Given the description of an element on the screen output the (x, y) to click on. 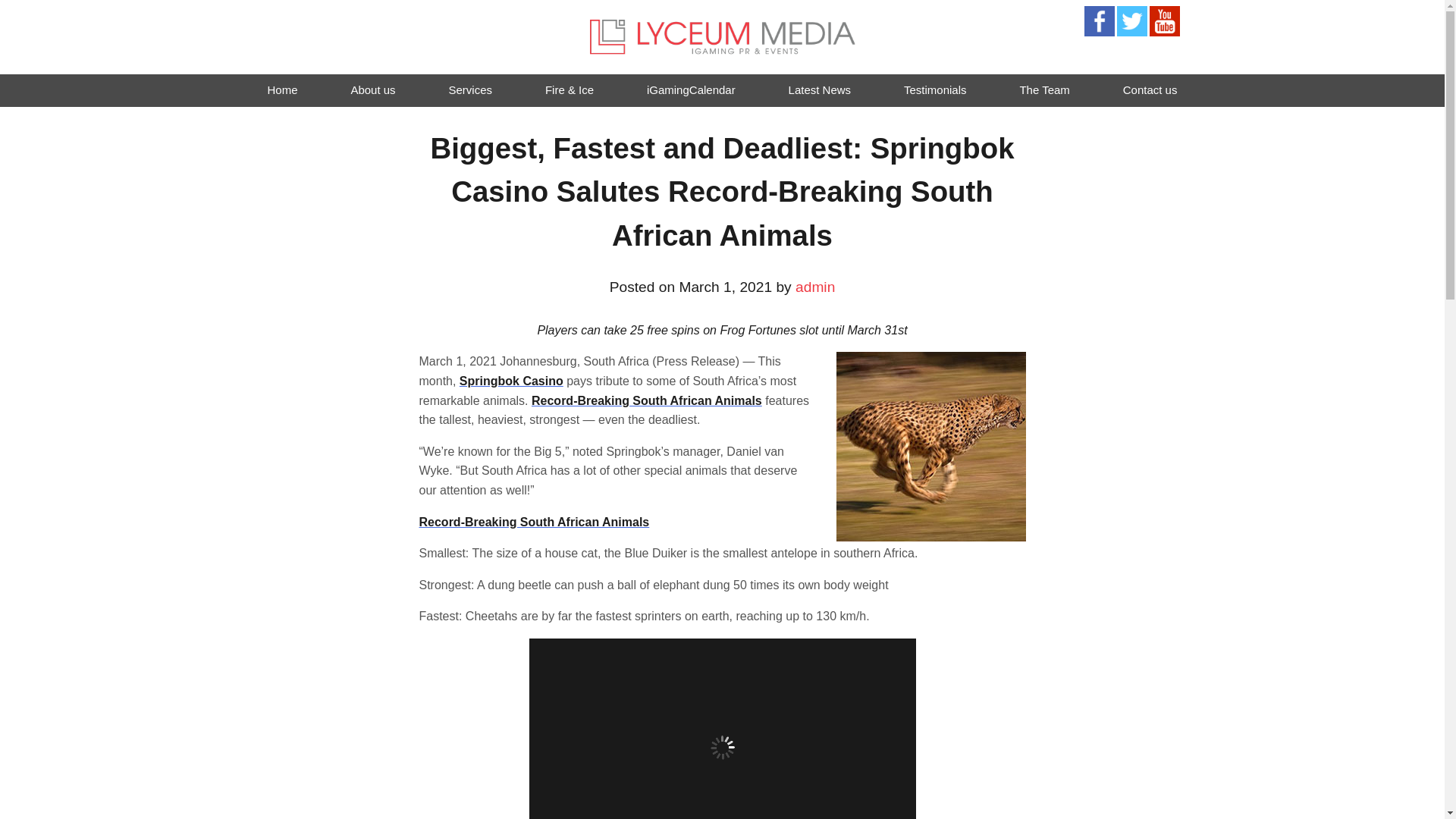
iGamingCalendar (690, 90)
The Team (1043, 90)
Contact us (1150, 90)
Record-Breaking South African Animals (534, 521)
March 1, 2021 (724, 286)
Latest News (820, 90)
Home (282, 90)
Testimonials (935, 90)
Record-Breaking South African Animals (646, 400)
Services (469, 90)
